Given the description of an element on the screen output the (x, y) to click on. 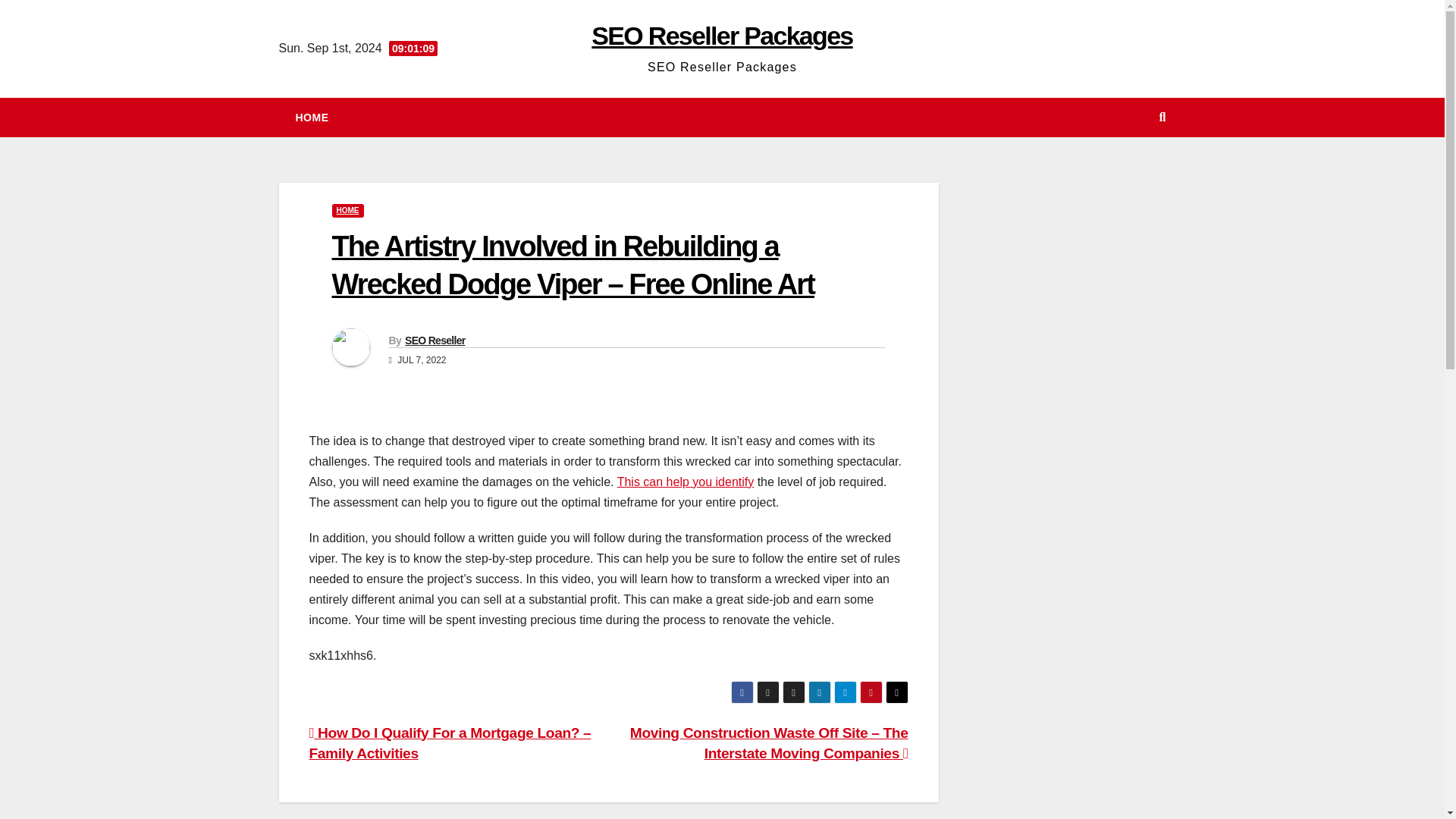
HOME (312, 117)
SEO Reseller (434, 340)
SEO Reseller Packages (721, 35)
Home (312, 117)
This can help you identify (685, 481)
HOME (347, 210)
